Given the description of an element on the screen output the (x, y) to click on. 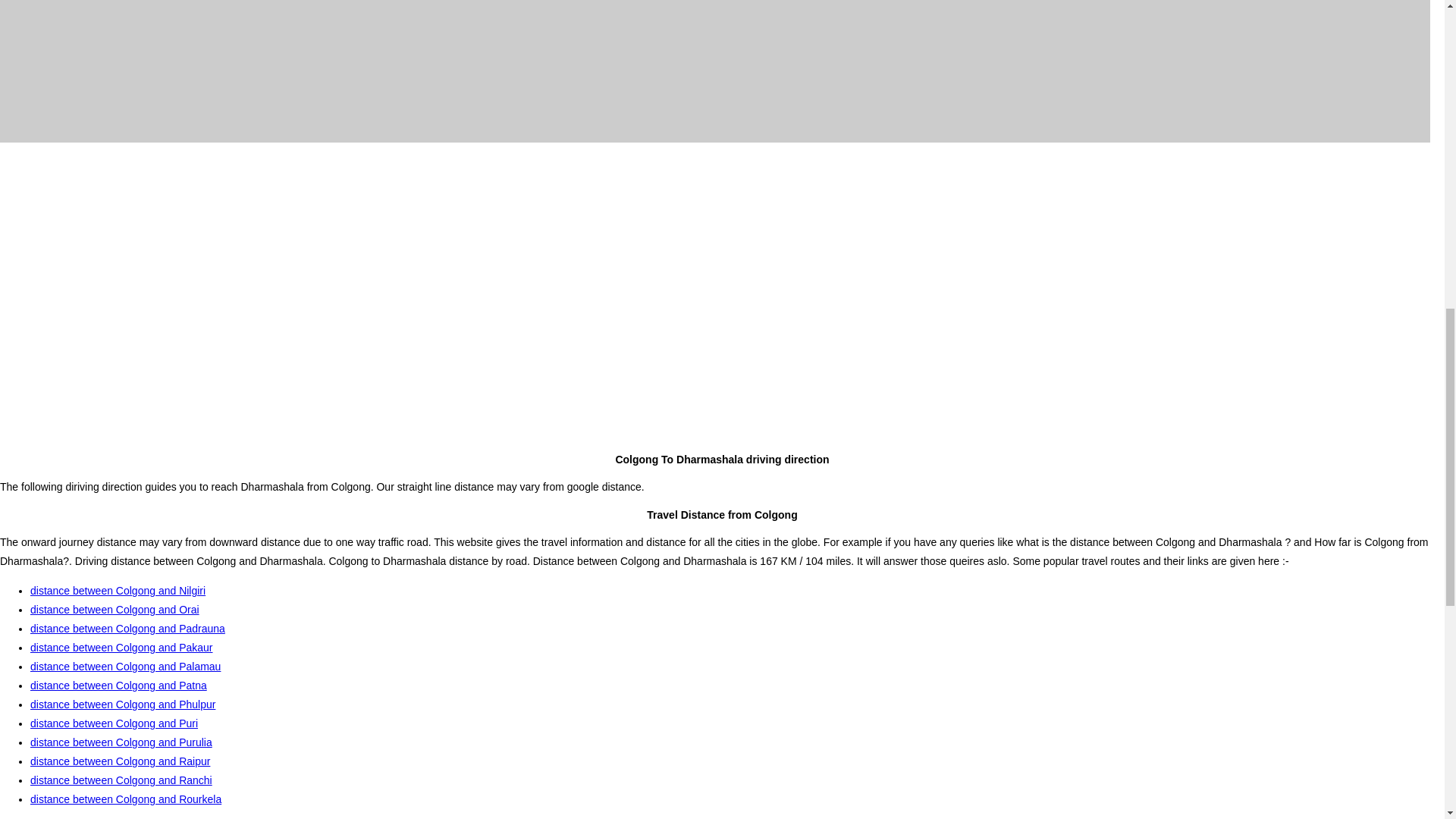
Advertisement (721, 183)
distance between Colgong and Puri (114, 723)
distance between Colgong and Phulpur (122, 704)
distance between Colgong and Raipur (119, 761)
distance between Colgong and Pakaur (121, 647)
distance between Colgong and Ranchi (121, 779)
distance between Colgong and Purulia (121, 742)
distance between Colgong and Rourkela (125, 799)
distance between Colgong and Orai (114, 609)
